Given the description of an element on the screen output the (x, y) to click on. 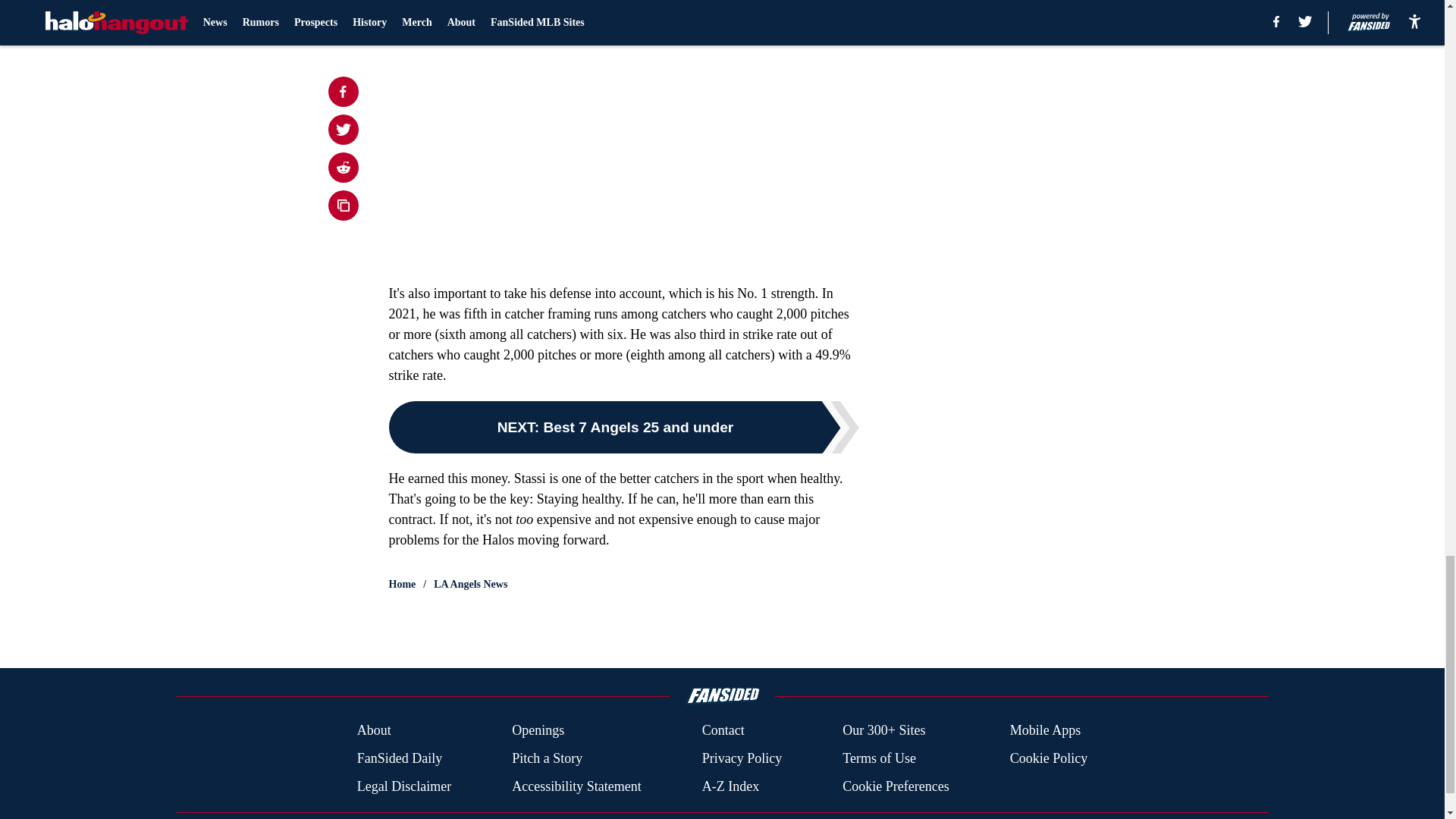
Pitch a Story (547, 758)
Legal Disclaimer (403, 786)
About (373, 730)
NEXT: Best 7 Angels 25 and under (623, 427)
Mobile Apps (1045, 730)
Privacy Policy (742, 758)
Openings (538, 730)
Cookie Policy (1048, 758)
Home (401, 584)
FanSided Daily (399, 758)
Accessibility Statement (576, 786)
LA Angels News (469, 584)
Terms of Use (879, 758)
Contact (722, 730)
A-Z Index (729, 786)
